Given the description of an element on the screen output the (x, y) to click on. 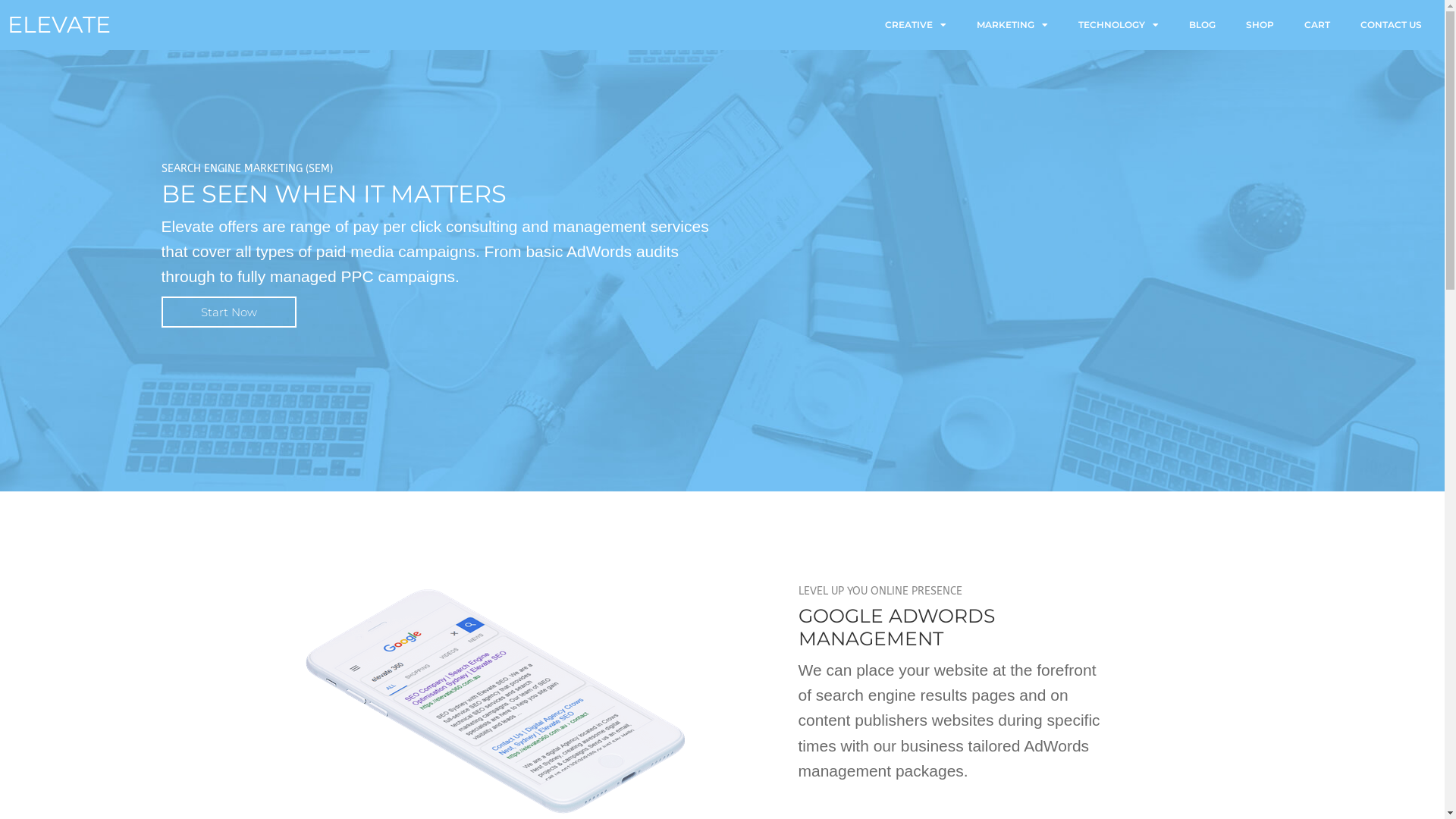
ELEVATE Element type: text (58, 24)
SHOP Element type: text (1259, 24)
CART Element type: text (1317, 24)
Start Now Element type: text (227, 311)
BLOG Element type: text (1201, 24)
MARKETING Element type: text (1012, 24)
TECHNOLOGY Element type: text (1118, 24)
CREATIVE Element type: text (915, 24)
CONTACT US Element type: text (1391, 24)
